Given the description of an element on the screen output the (x, y) to click on. 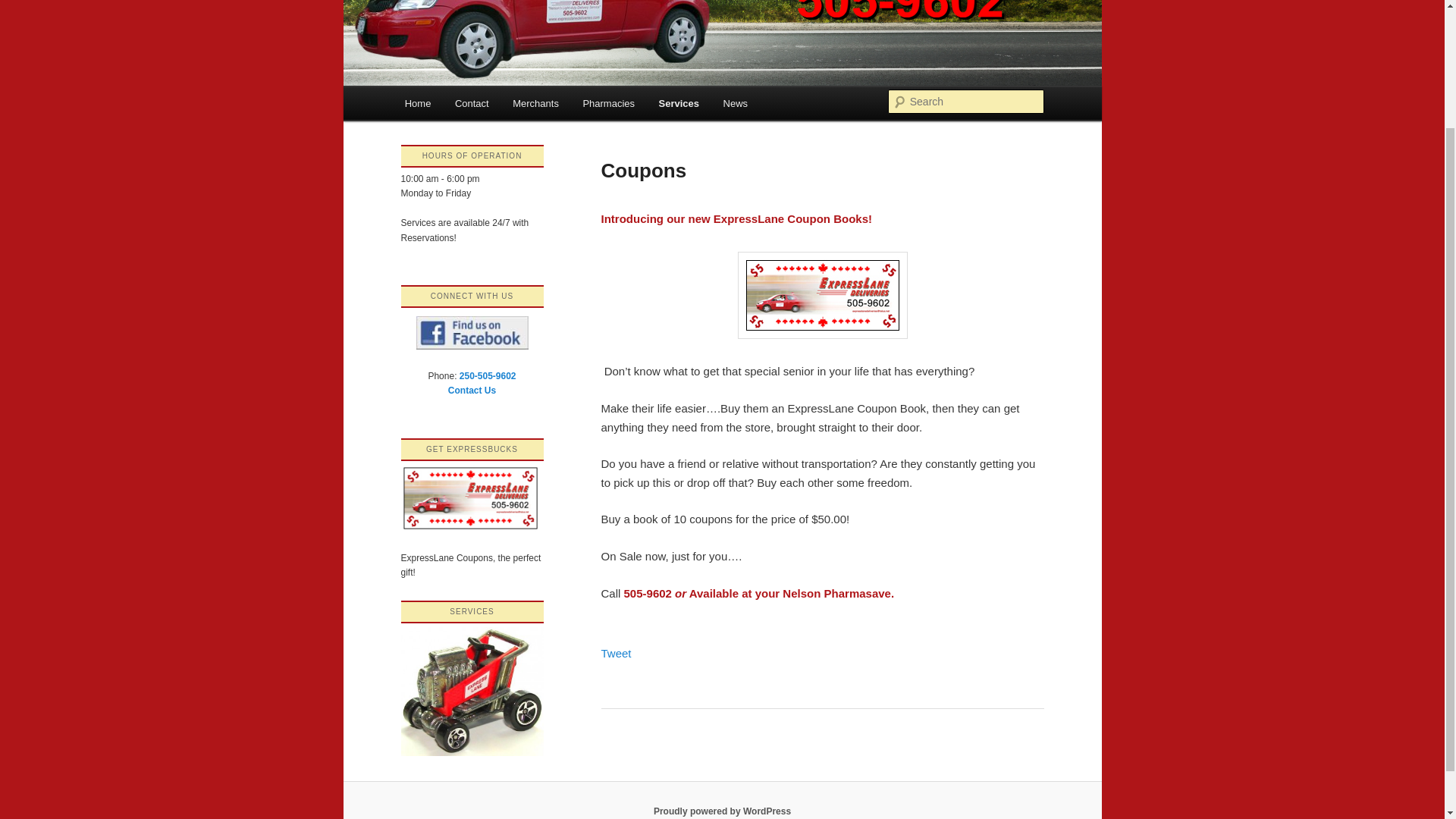
Merchants (535, 102)
News (735, 102)
Contact (471, 102)
Tweet (614, 653)
250-505-9602 (488, 376)
Semantic Personal Publishing Platform (721, 810)
Contact Us (472, 389)
Services (678, 102)
Pharmacies (608, 102)
Proudly powered by WordPress (721, 810)
Home (417, 102)
